Given the description of an element on the screen output the (x, y) to click on. 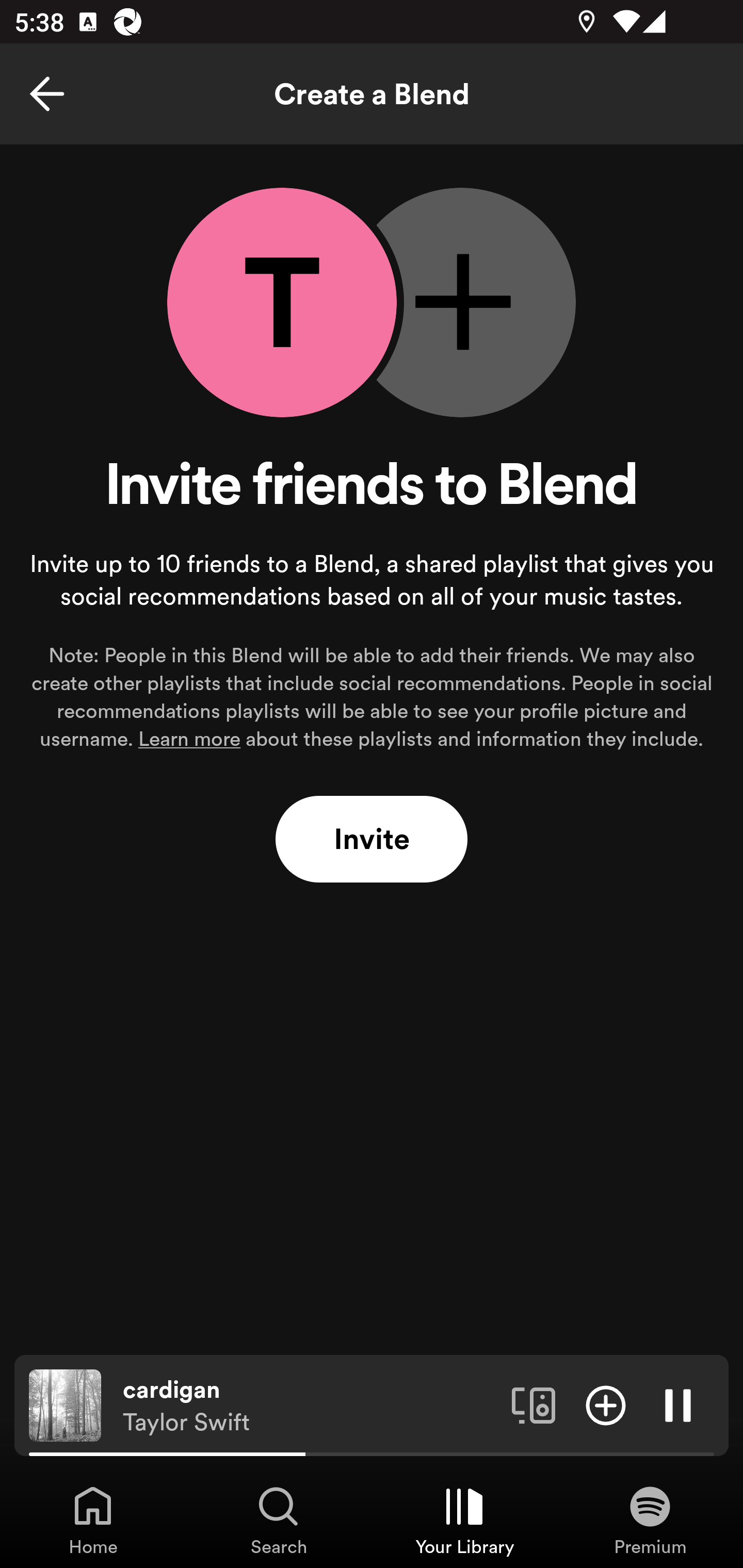
Back (46, 93)
Invite (371, 839)
cardigan Taylor Swift (309, 1405)
The cover art of the currently playing track (64, 1404)
Connect to a device. Opens the devices menu (533, 1404)
Add item (605, 1404)
Pause (677, 1404)
Home, Tab 1 of 4 Home Home (92, 1519)
Search, Tab 2 of 4 Search Search (278, 1519)
Your Library, Tab 3 of 4 Your Library Your Library (464, 1519)
Premium, Tab 4 of 4 Premium Premium (650, 1519)
